Given the description of an element on the screen output the (x, y) to click on. 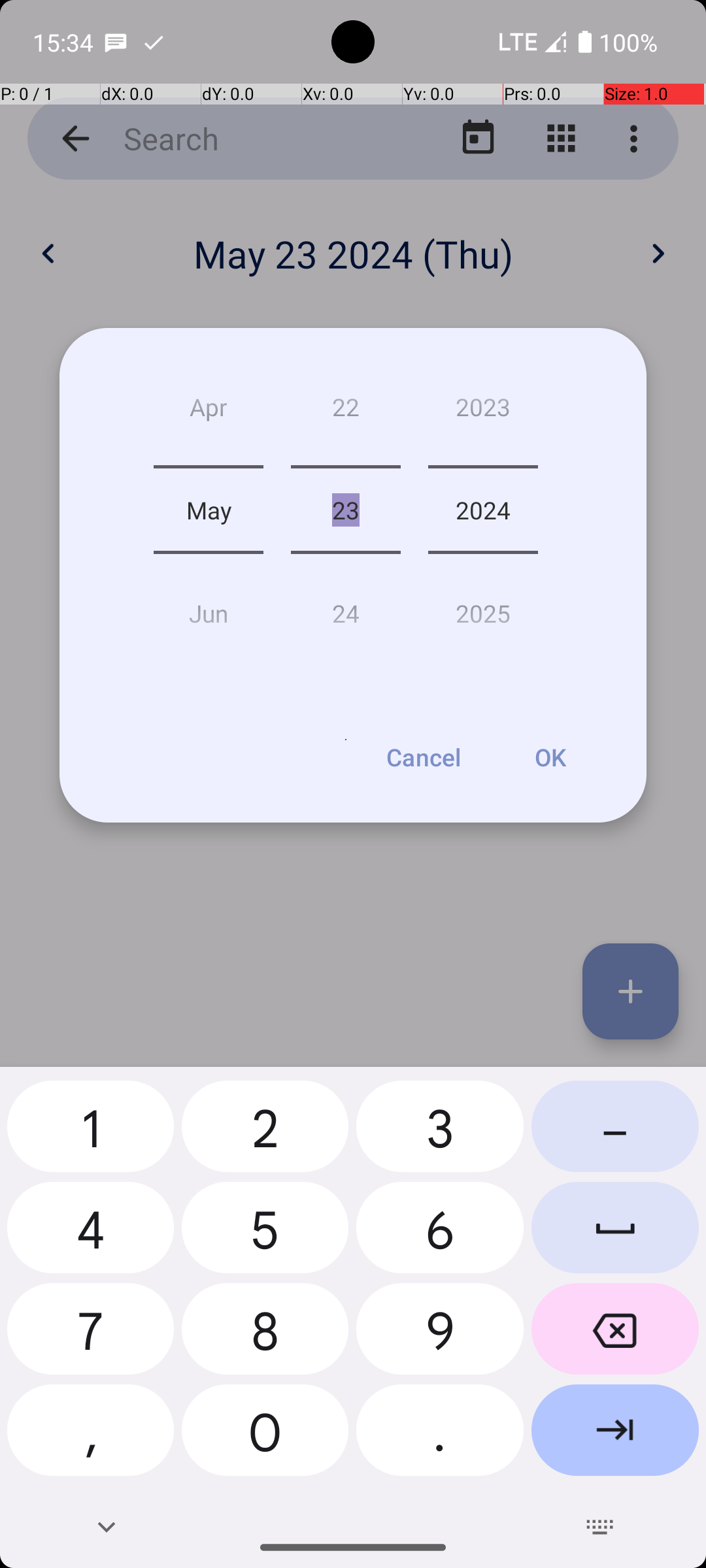
Apr Element type: android.widget.Button (208, 411)
May Element type: android.widget.EditText (208, 509)
Jun Element type: android.widget.Button (208, 607)
2025 Element type: android.widget.Button (482, 607)
